Given the description of an element on the screen output the (x, y) to click on. 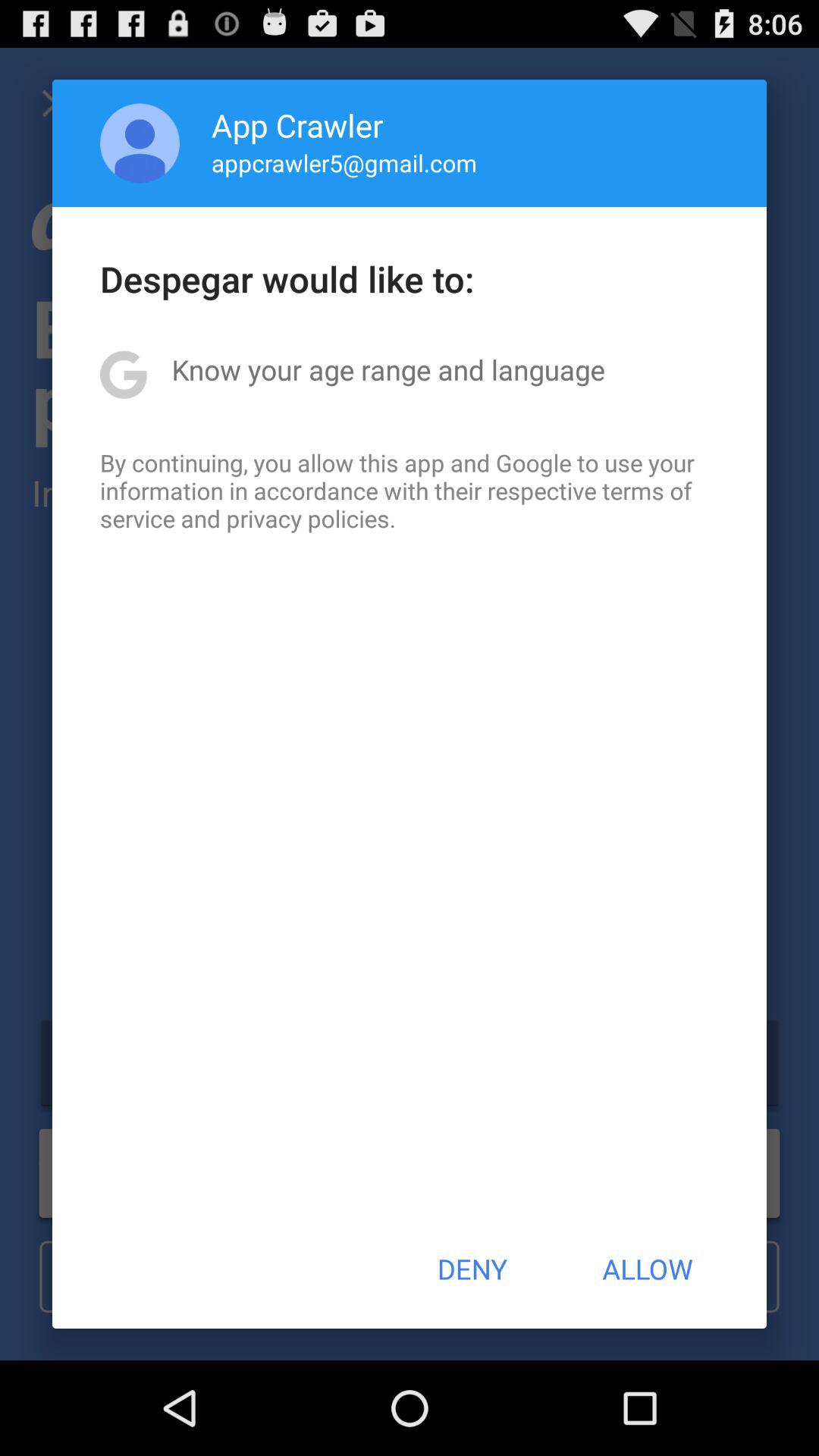
launch the app above despegar would like item (139, 143)
